Given the description of an element on the screen output the (x, y) to click on. 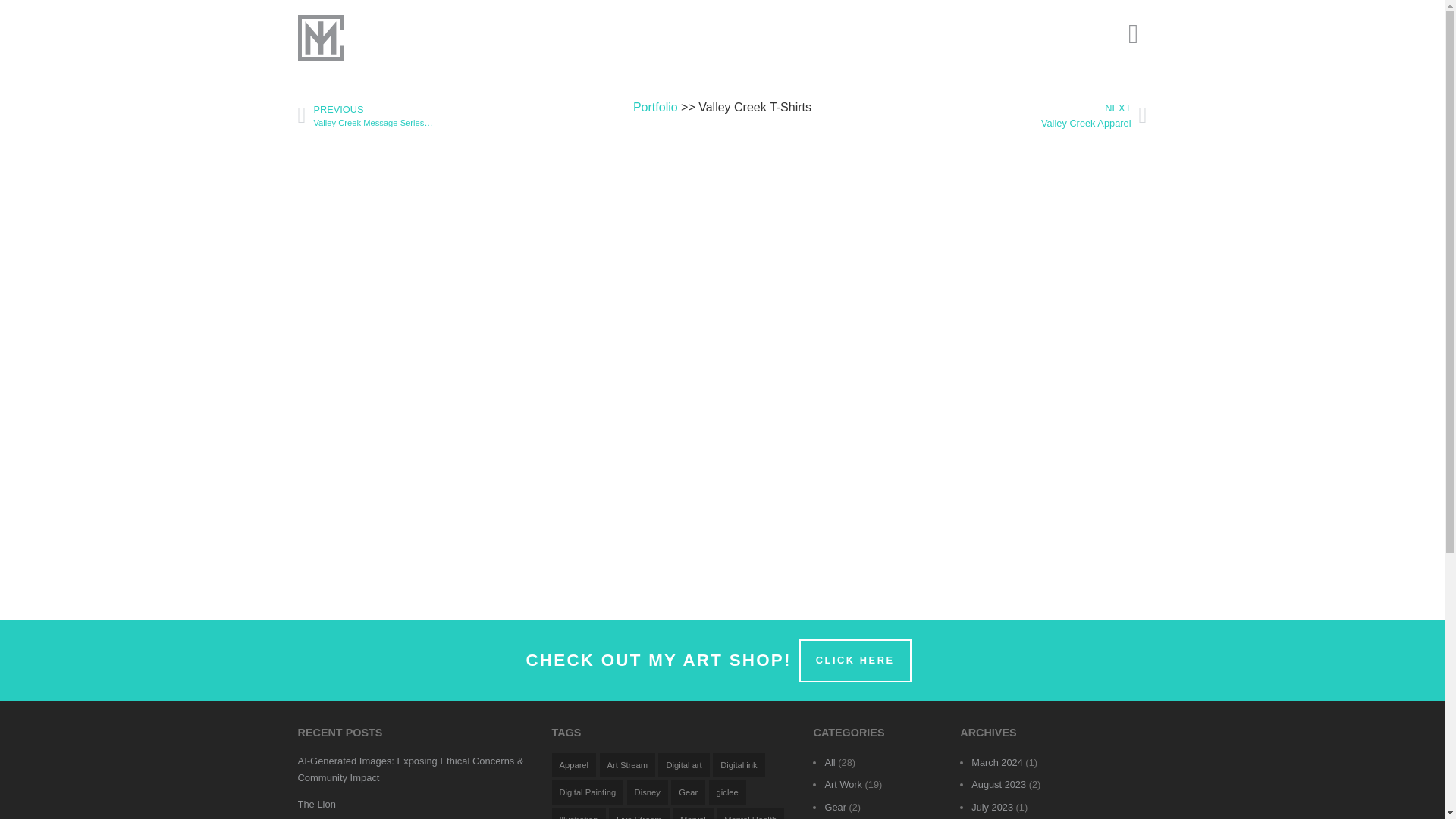
Marvel (692, 813)
The Lion (315, 803)
Illustration (578, 813)
Portfolio (655, 106)
Digital ink (739, 764)
Disney (647, 792)
Mental Health (1078, 115)
Live Stream (750, 813)
CLICK HERE (638, 813)
